Given the description of an element on the screen output the (x, y) to click on. 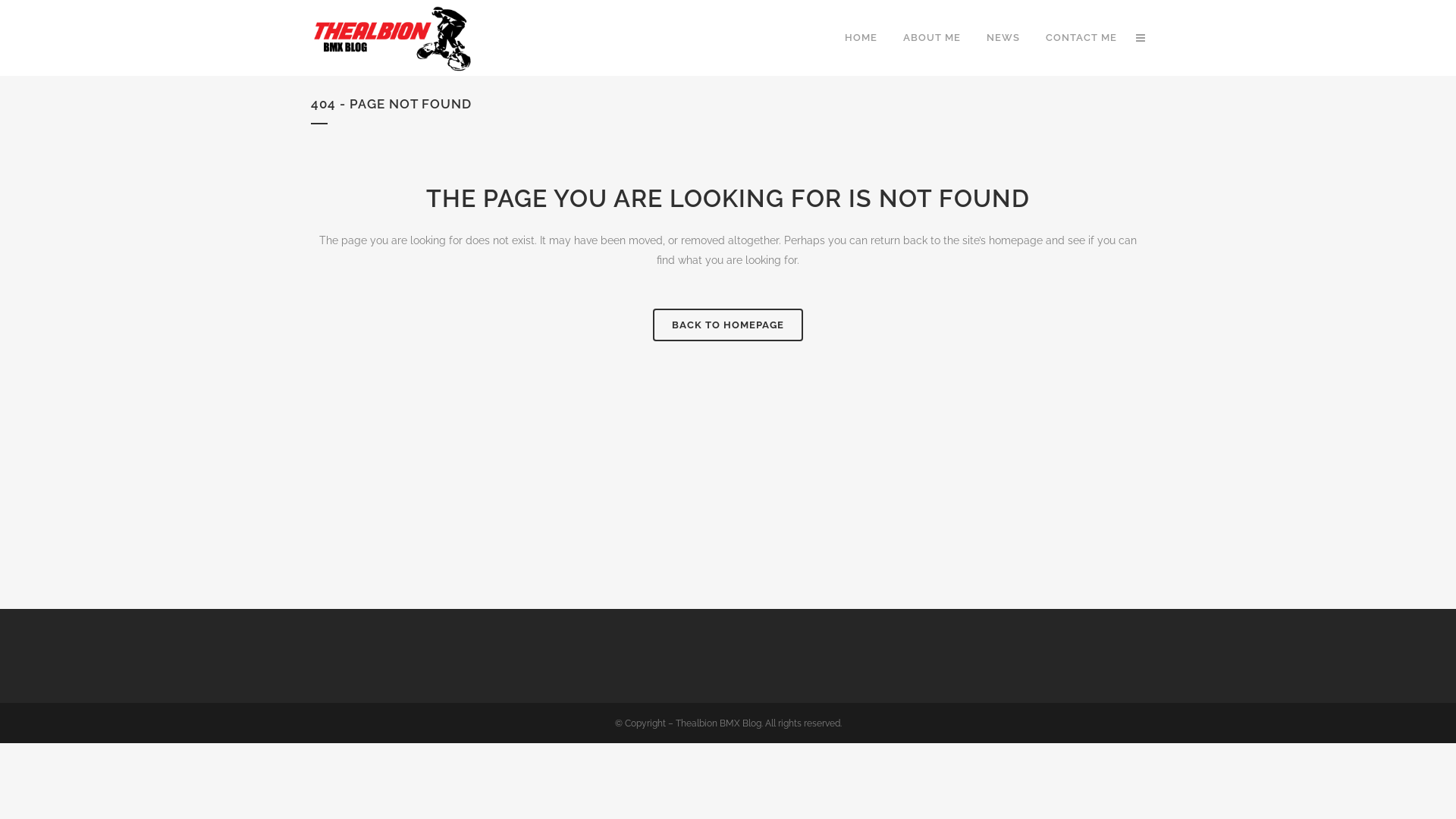
BACK TO HOMEPAGE Element type: text (727, 324)
CONTACT ME Element type: text (1080, 37)
HOME Element type: text (860, 37)
ABOUT ME Element type: text (931, 37)
NEWS Element type: text (1002, 37)
